Given the description of an element on the screen output the (x, y) to click on. 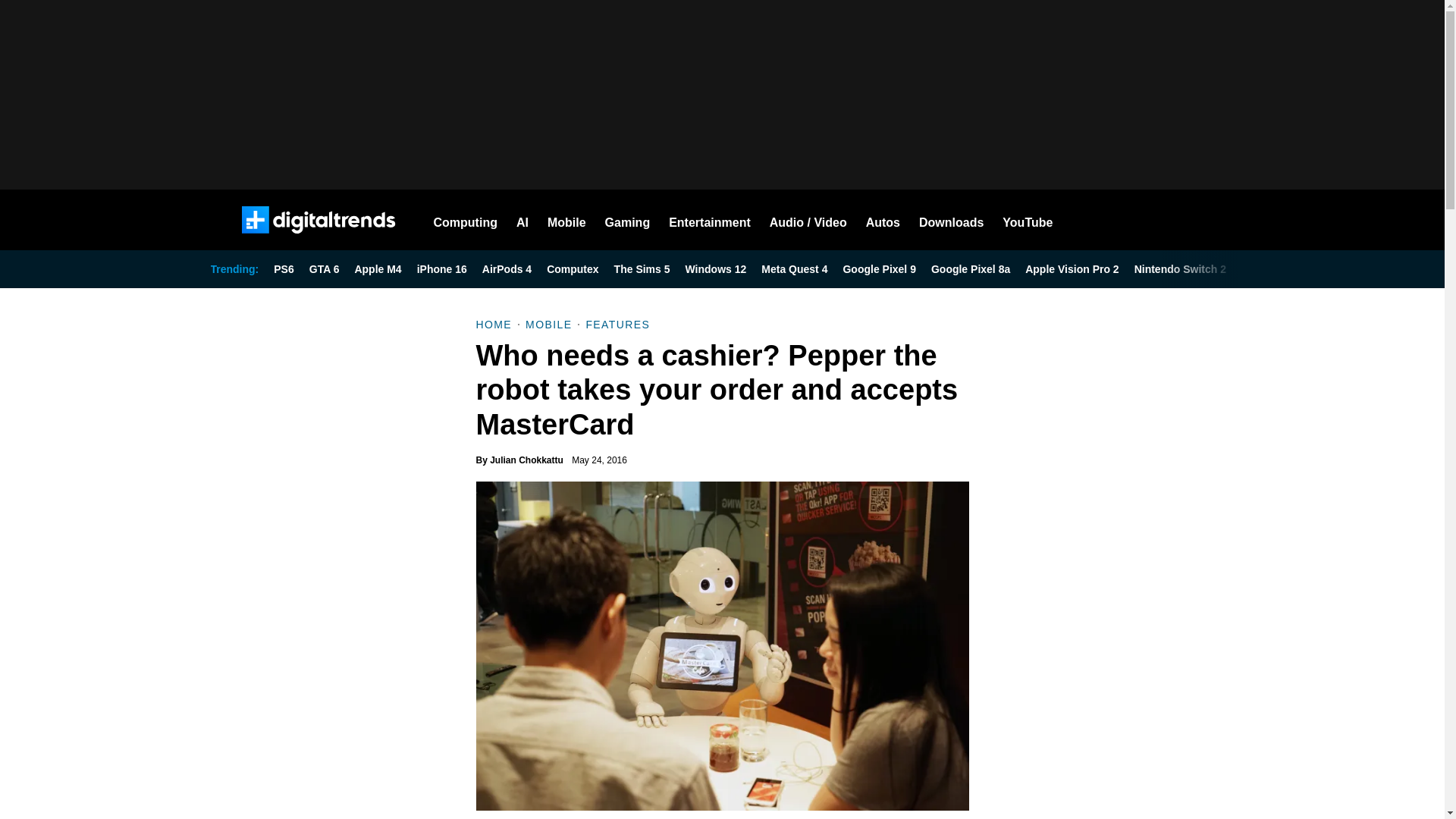
Entertainment (709, 219)
Computing (465, 219)
Downloads (951, 219)
